Given the description of an element on the screen output the (x, y) to click on. 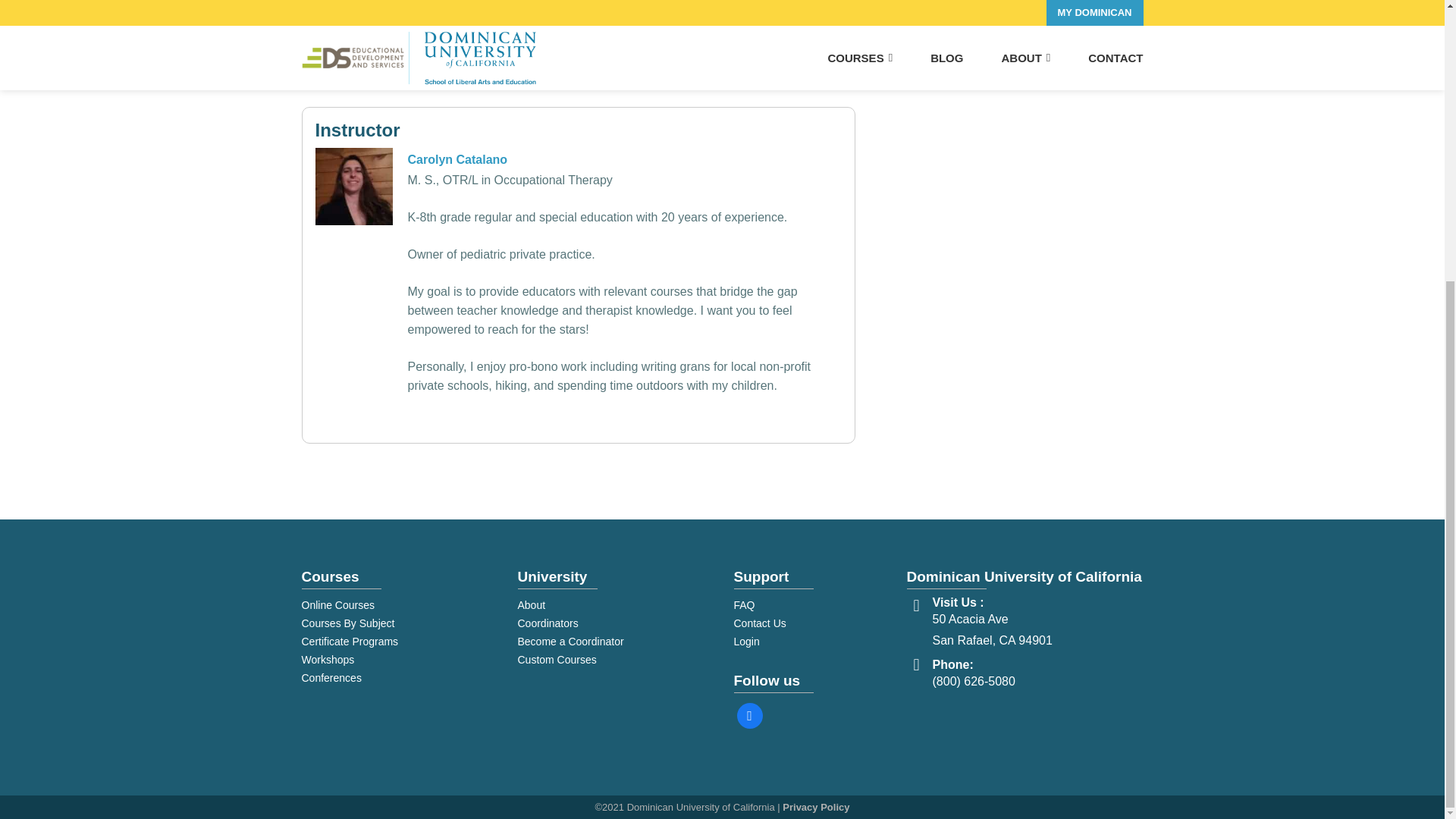
Facebook (749, 715)
